Given the description of an element on the screen output the (x, y) to click on. 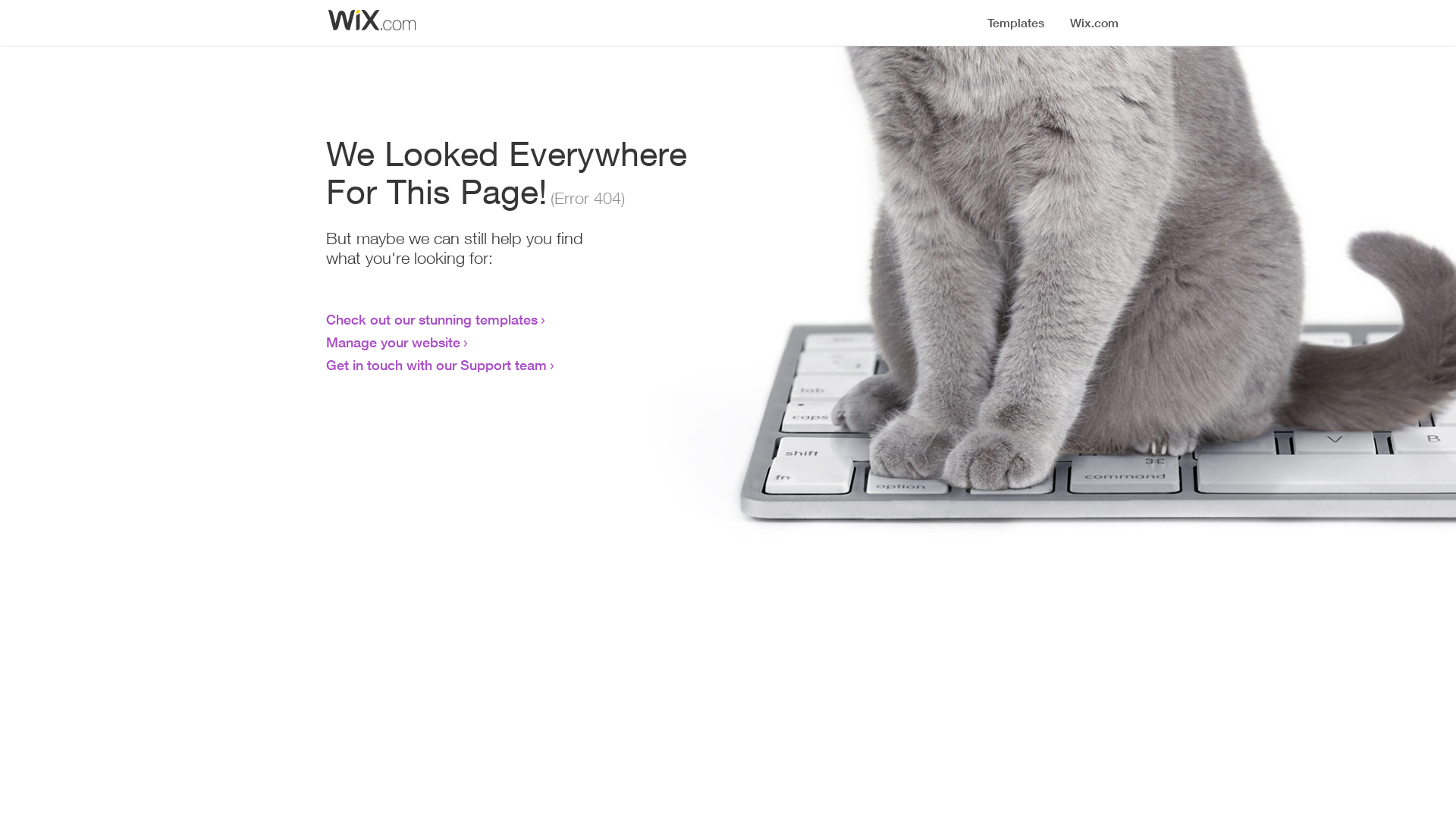
Get in touch with our Support team Element type: text (436, 364)
Manage your website Element type: text (393, 341)
Check out our stunning templates Element type: text (431, 318)
